Given the description of an element on the screen output the (x, y) to click on. 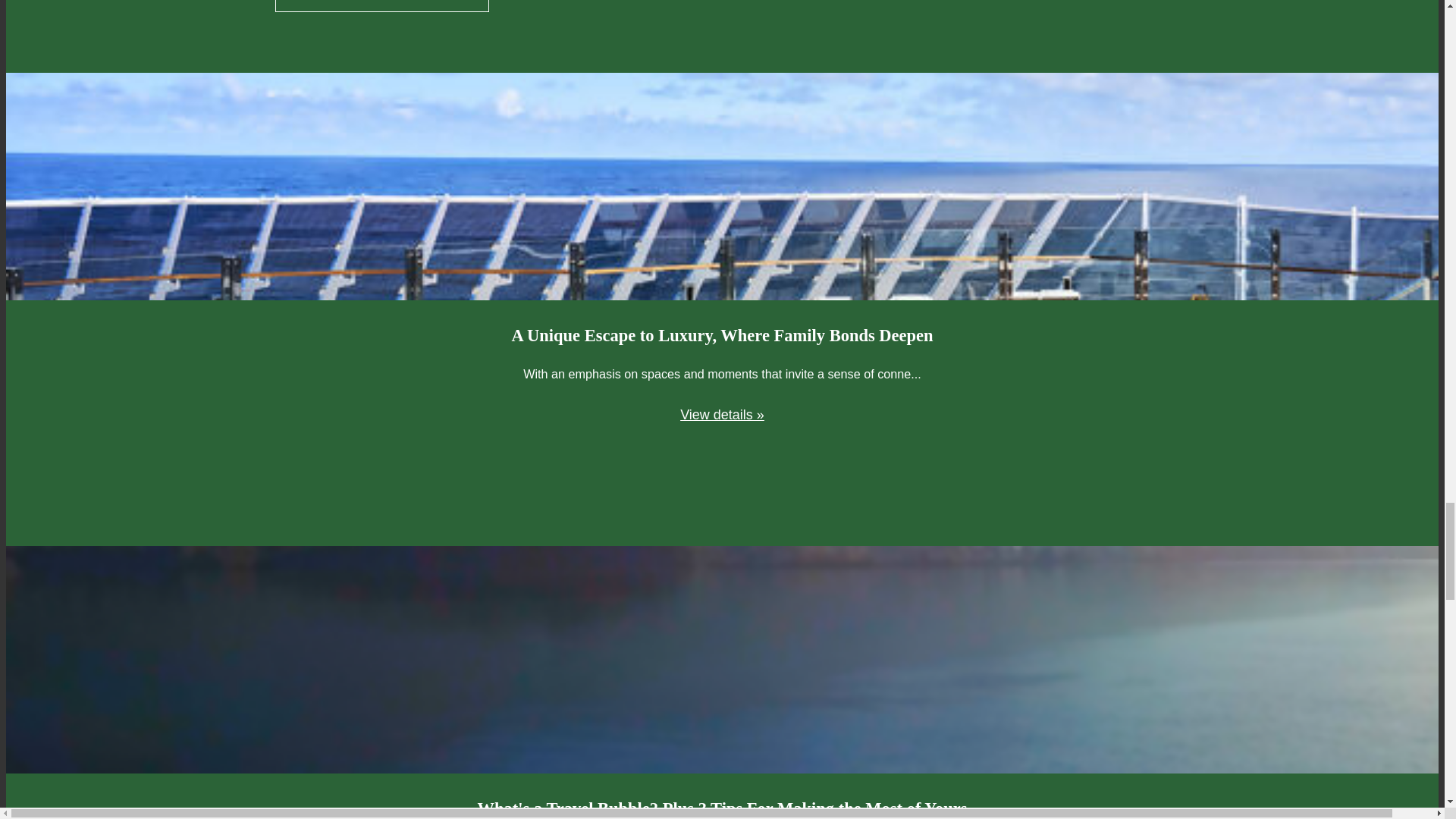
Start Your Trip Today (382, 6)
